Given the description of an element on the screen output the (x, y) to click on. 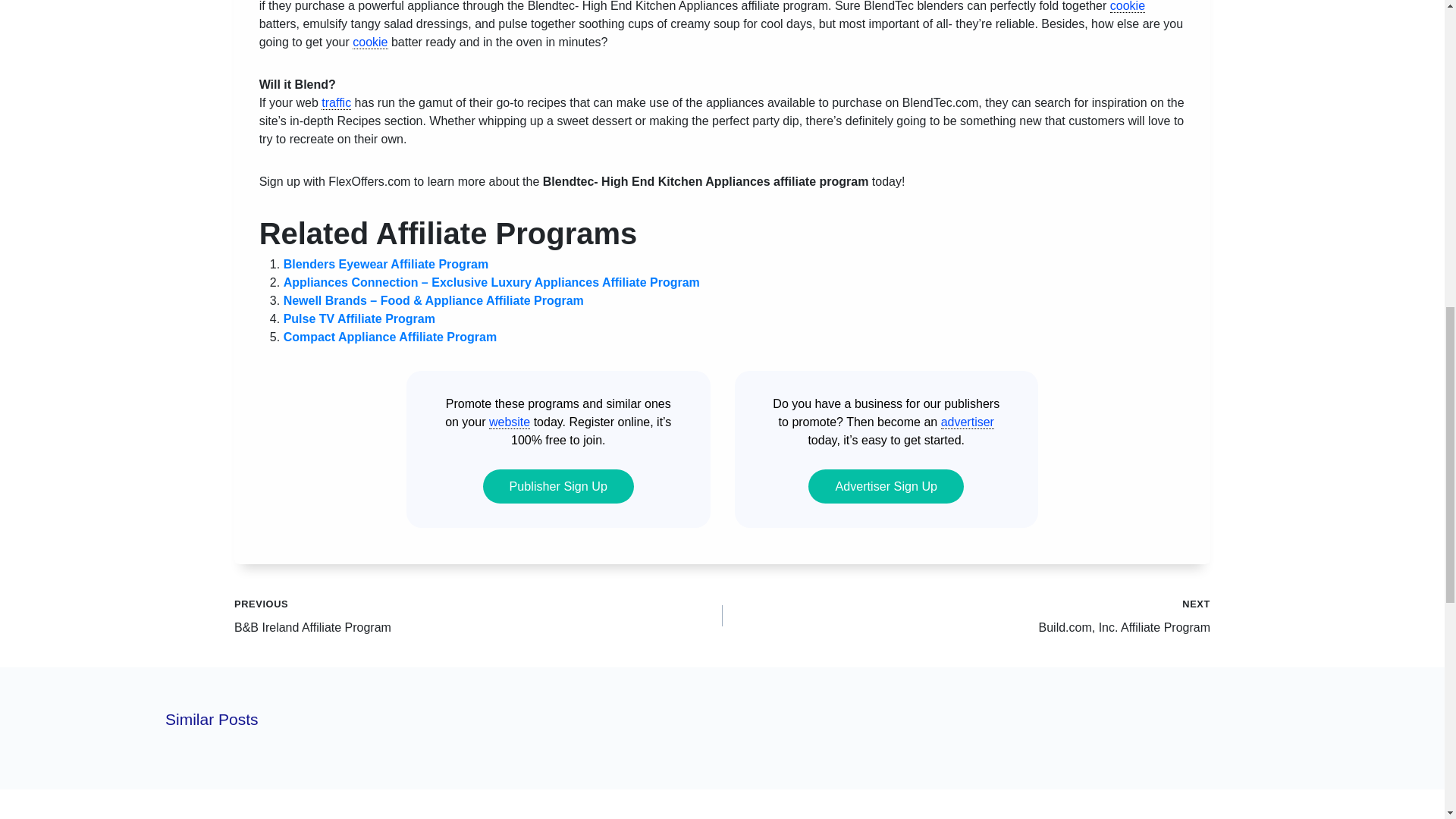
Compact Appliance Affiliate Program (390, 336)
cookie (1126, 6)
cookie (369, 42)
traffic (335, 102)
Blenders Eyewear Affiliate Program (386, 264)
Pulse TV Affiliate Program (359, 318)
